Given the description of an element on the screen output the (x, y) to click on. 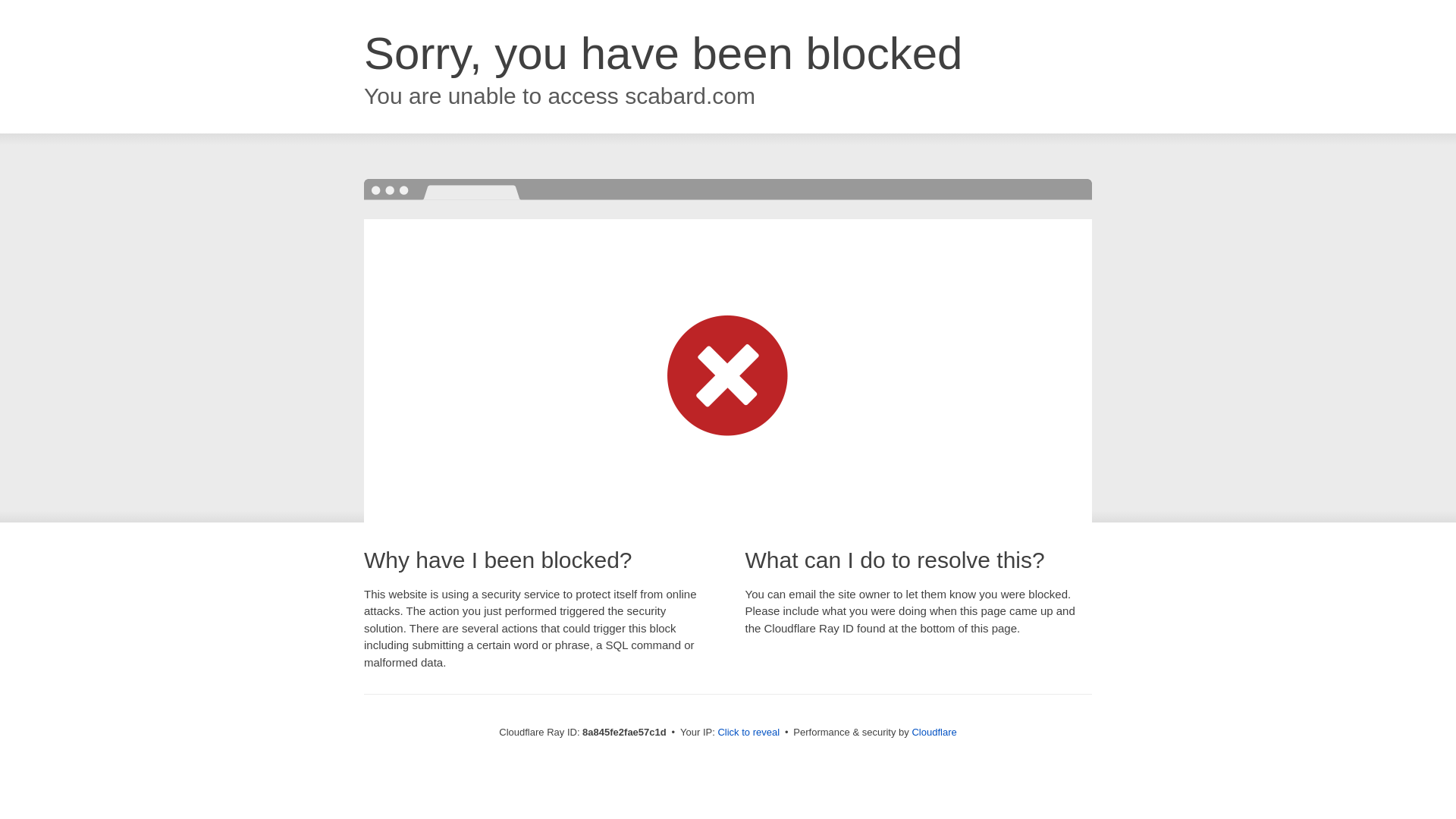
Click to reveal (747, 732)
Cloudflare (933, 731)
